Given the description of an element on the screen output the (x, y) to click on. 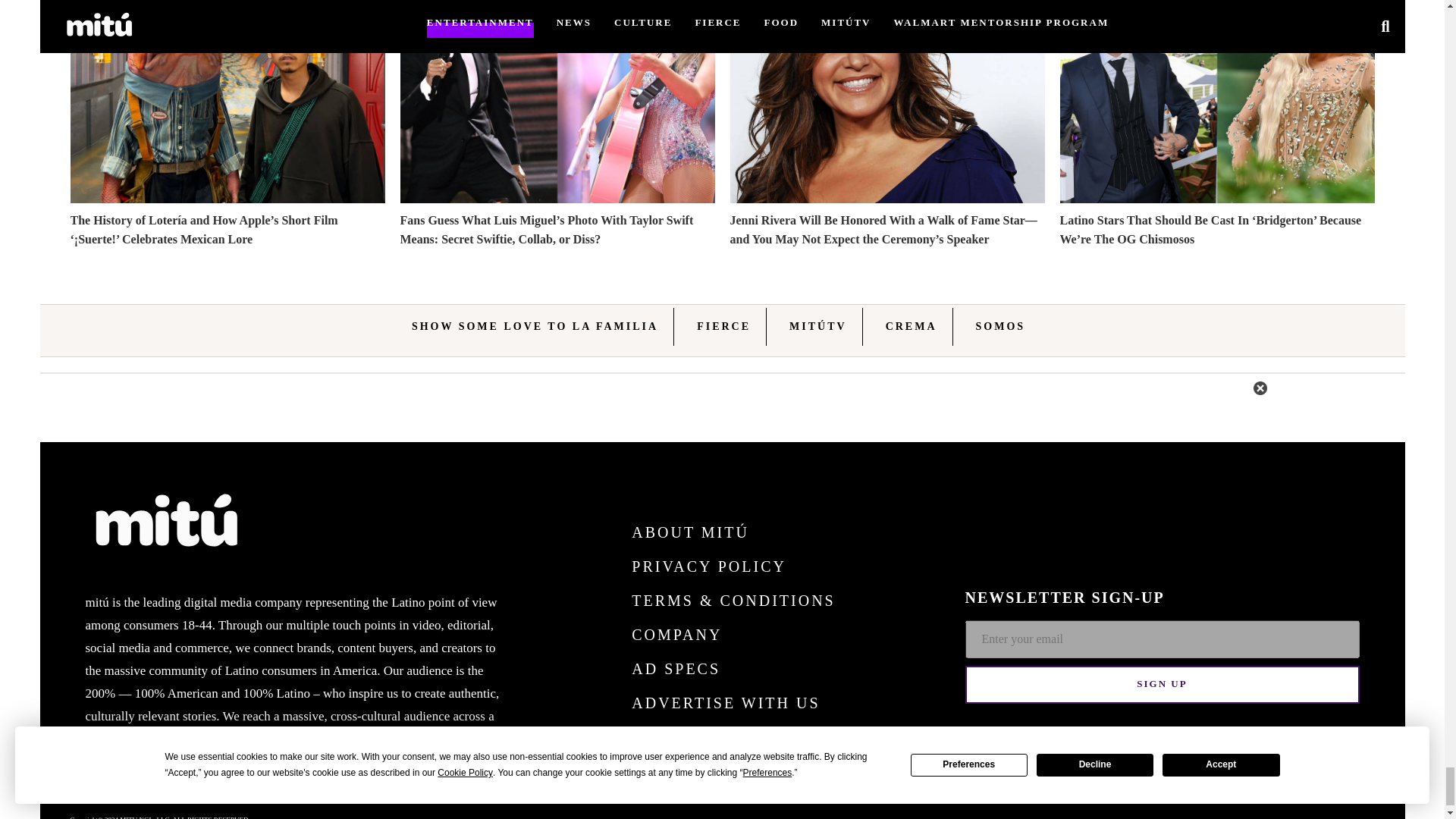
SHOW SOME LOVE TO LA FAMILIA (535, 326)
CREMA (911, 326)
SOMOS (1000, 326)
FIERCE (724, 326)
